Given the description of an element on the screen output the (x, y) to click on. 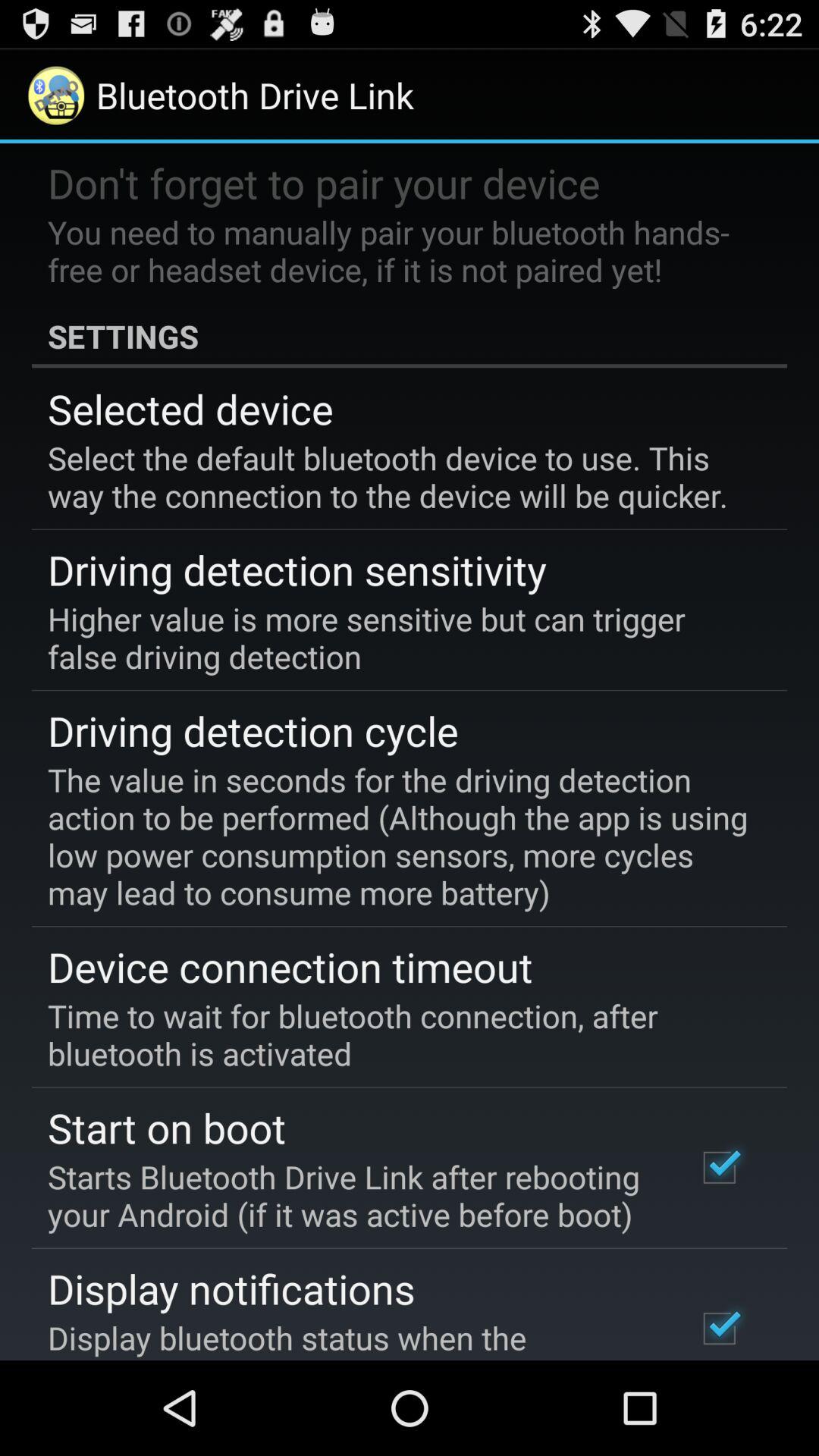
click display notifications icon (231, 1288)
